Given the description of an element on the screen output the (x, y) to click on. 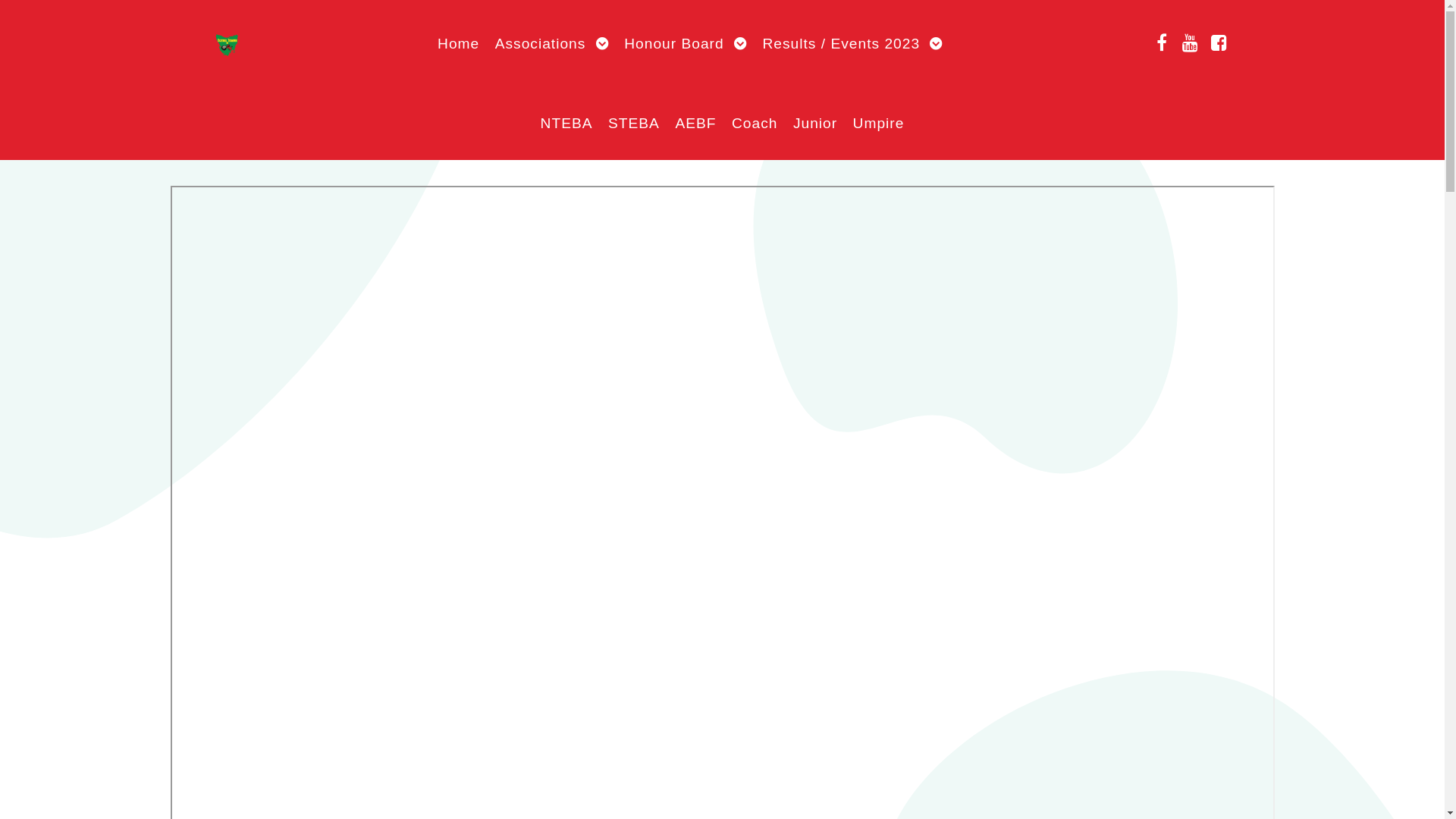
Coach Element type: text (754, 123)
Umpire Element type: text (878, 123)
NTEBA Element type: text (566, 123)
Home Element type: text (458, 43)
Honour Board Element type: text (685, 43)
STEBA Element type: text (633, 123)
Results / Events 2023 Element type: text (852, 43)
Junior Element type: text (815, 123)
Associations Element type: text (552, 43)
AEBF Element type: text (694, 123)
Eightball Tasmania Element type: hover (225, 42)
